Given the description of an element on the screen output the (x, y) to click on. 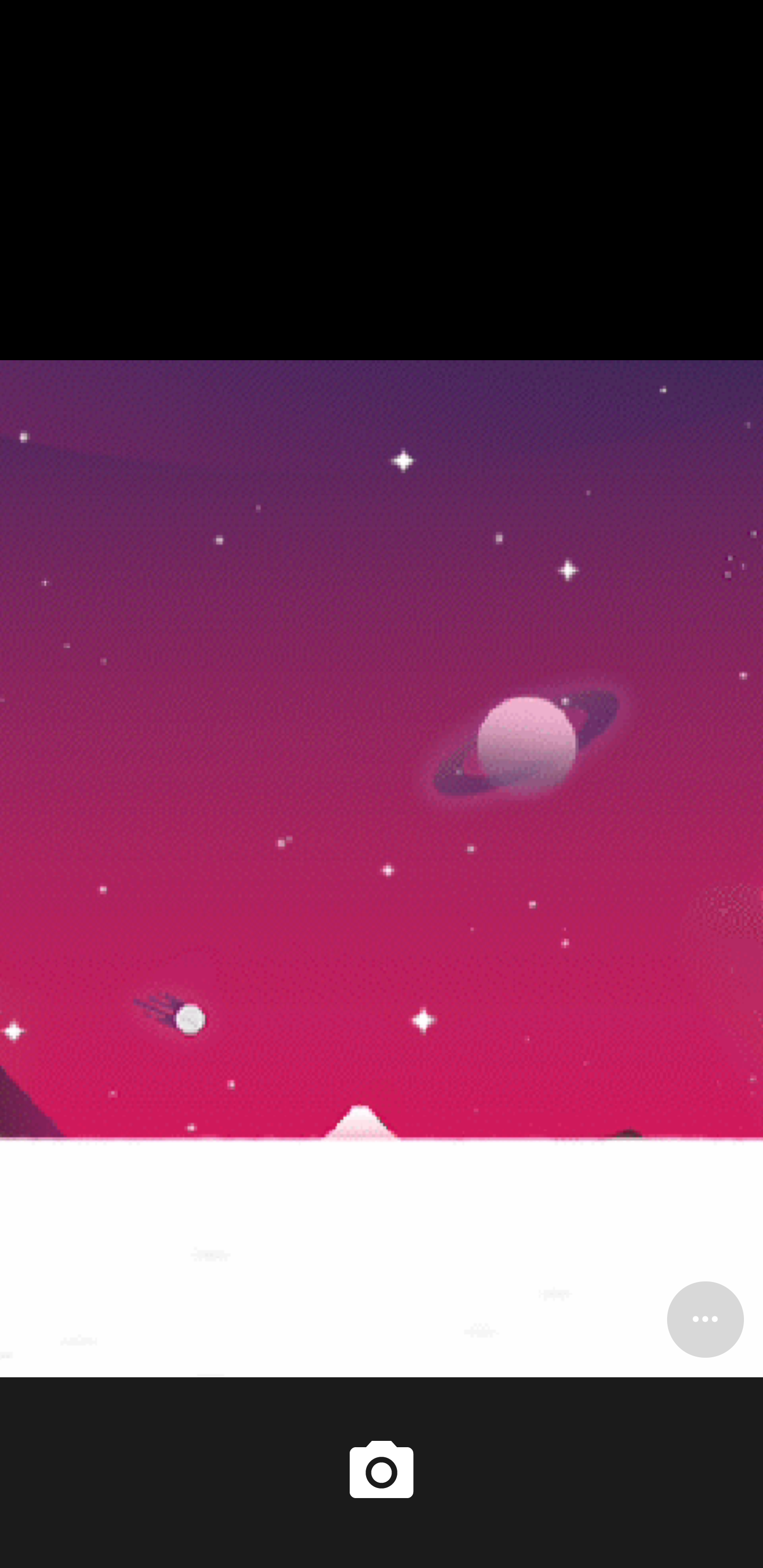
Options (704, 1319)
Shutter (381, 1472)
